Given the description of an element on the screen output the (x, y) to click on. 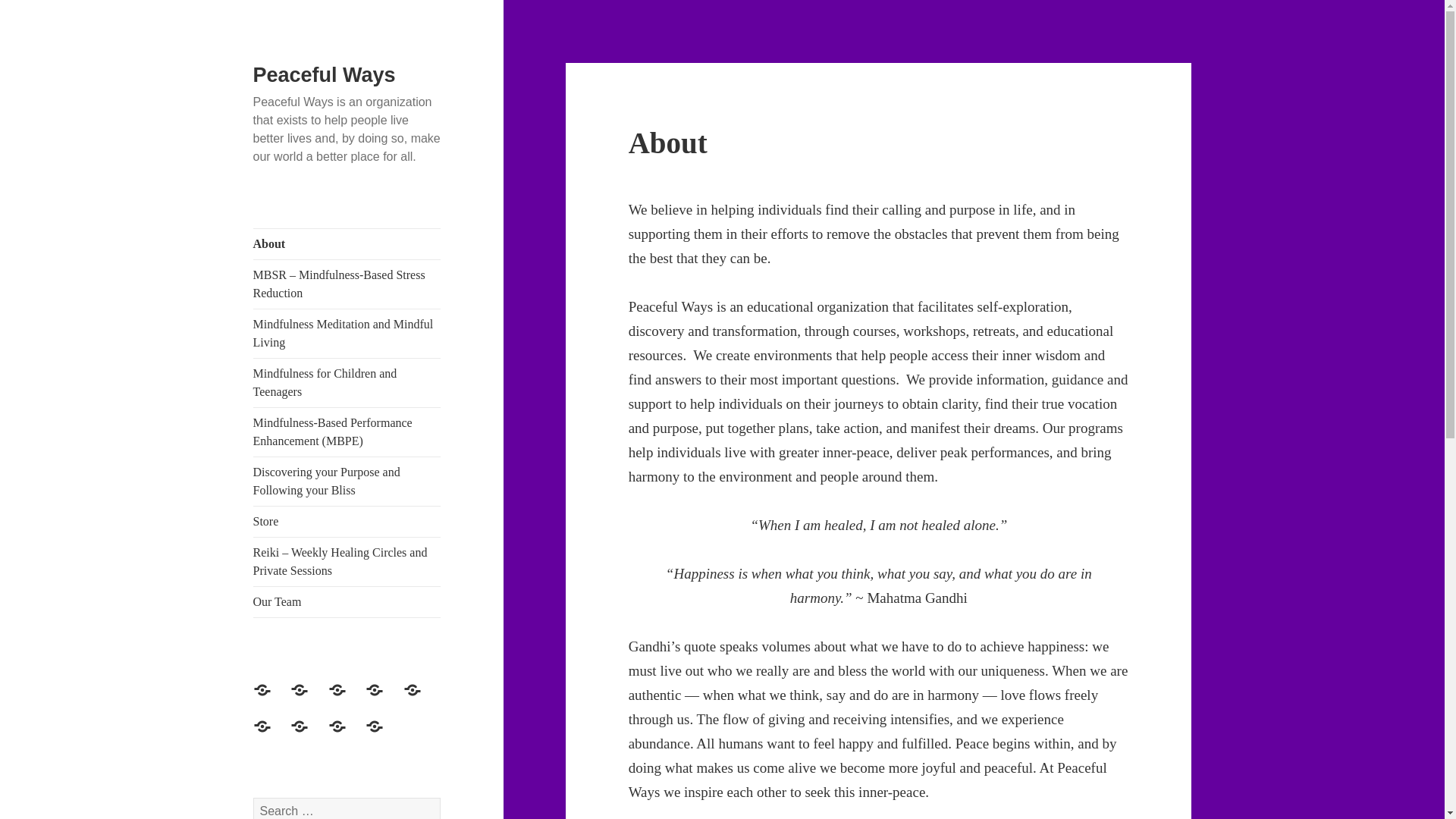
Mindfulness Meditation and Mindful Living (347, 333)
About (271, 698)
Store (347, 521)
Mindfulness Meditation and Mindful Living (347, 698)
Mindfulness for Children and Teenagers (347, 382)
Peaceful Ways (324, 74)
Our Team (347, 602)
Discovering your Purpose and Following your Bliss (347, 481)
Our Team (383, 735)
Store (307, 735)
About (347, 244)
Discovering your Purpose and Following your Bliss (271, 735)
